Given the description of an element on the screen output the (x, y) to click on. 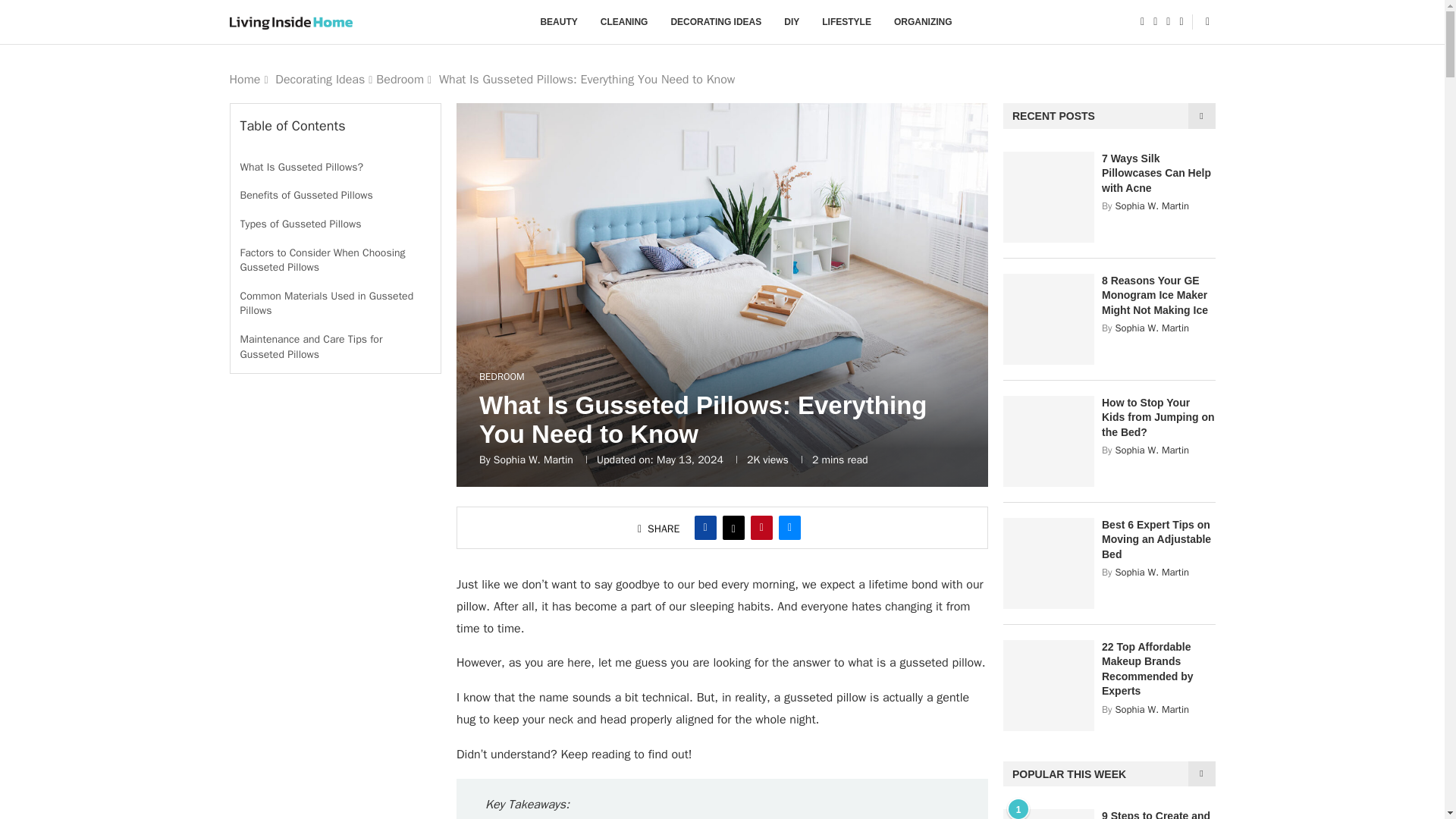
22 Top Affordable Makeup Brands Recommended by Experts (1048, 685)
8 Reasons Your GE Monogram Ice Maker Might Not Making Ice (1158, 295)
How to Stop Your Kids from Jumping on the Bed? (1048, 440)
ORGANIZING (922, 22)
22 Top Affordable Makeup Brands Recommended by Experts (1158, 669)
Best 6 Expert Tips on Moving an Adjustable Bed (1048, 563)
LIFESTYLE (846, 22)
DECORATING IDEAS (715, 22)
How to Stop Your Kids from Jumping on the Bed? (1158, 417)
7 Ways Silk Pillowcases Can Help with Acne (1158, 173)
Best 6 Expert Tips on Moving an Adjustable Bed (1158, 539)
7 Ways Silk Pillowcases Can Help with Acne (1048, 196)
8 Reasons Your GE Monogram Ice Maker Might Not Making Ice (1048, 318)
CLEANING (623, 22)
